Given the description of an element on the screen output the (x, y) to click on. 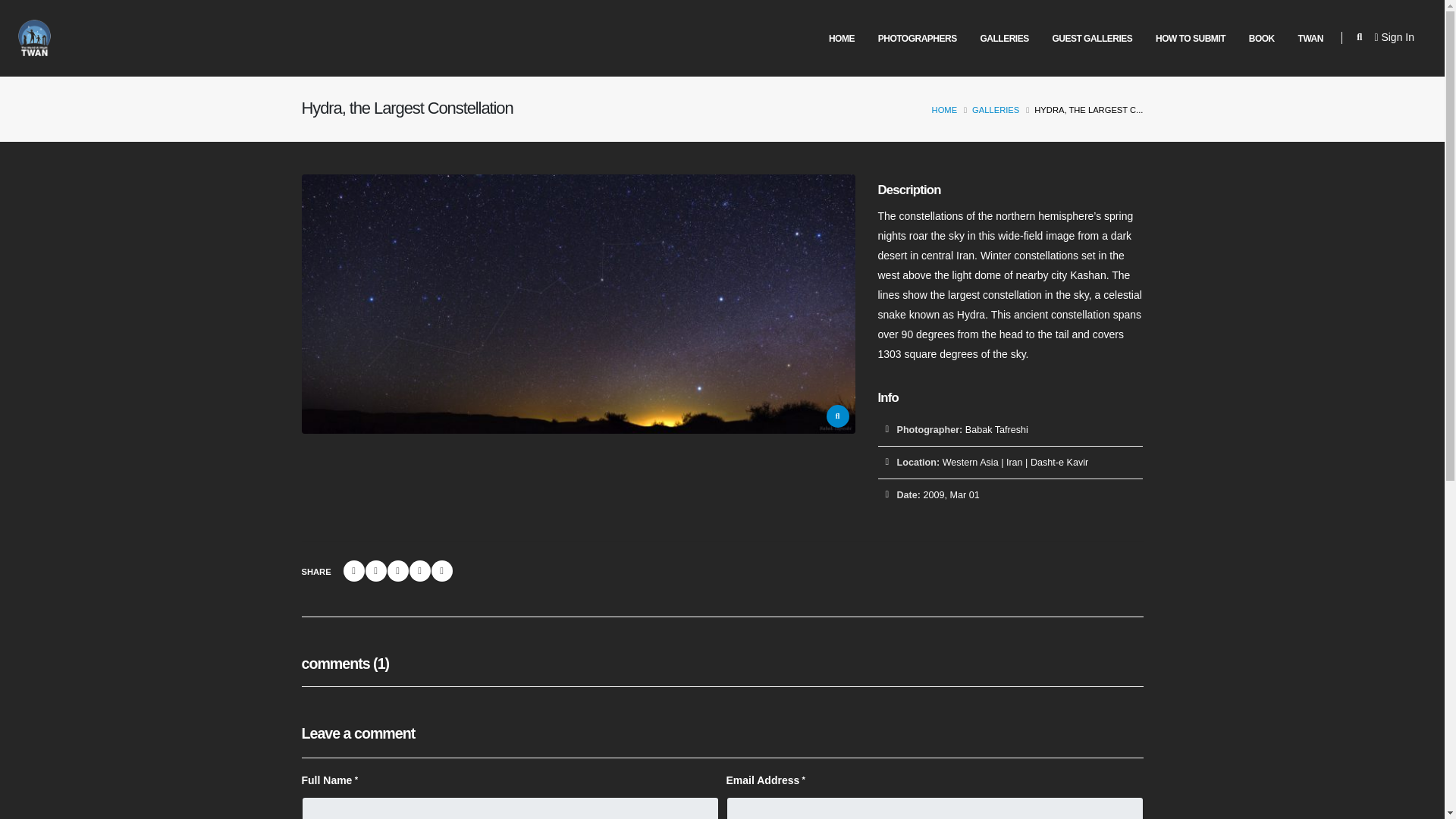
Email (422, 570)
Twitter (348, 570)
Linkedin (373, 570)
Pinterest (398, 570)
PHOTOGRAPHERS (917, 38)
Facebook (324, 570)
GALLERIES (1004, 38)
